Given the description of an element on the screen output the (x, y) to click on. 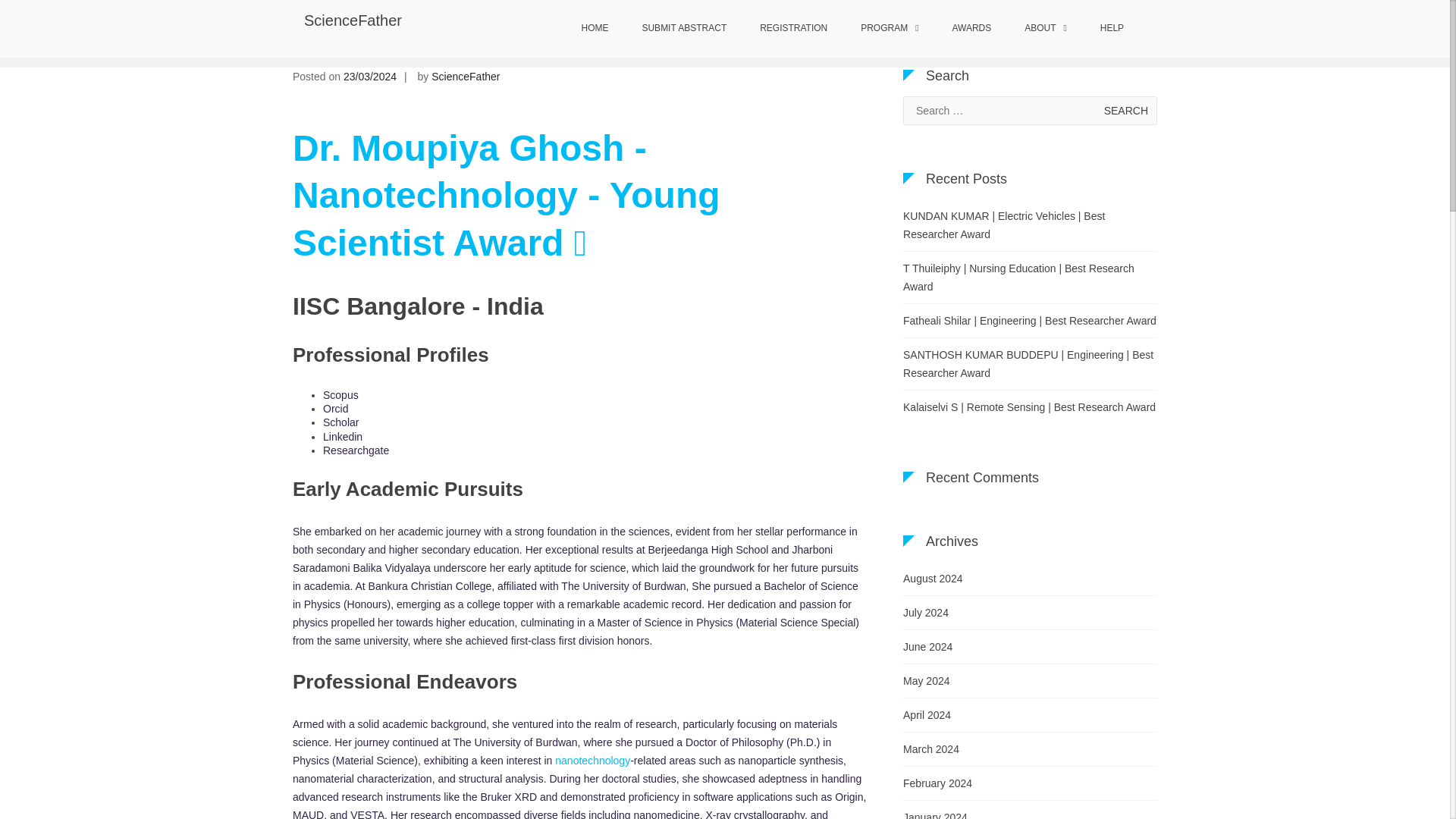
Home (756, 29)
ABOUT (1045, 28)
Researchgate (355, 450)
Biography (842, 29)
SUBMIT ABSTRACT (683, 28)
Home (756, 29)
Scopus (340, 395)
Linkedin (342, 436)
AWARDS (971, 28)
Scholar (340, 422)
